Given the description of an element on the screen output the (x, y) to click on. 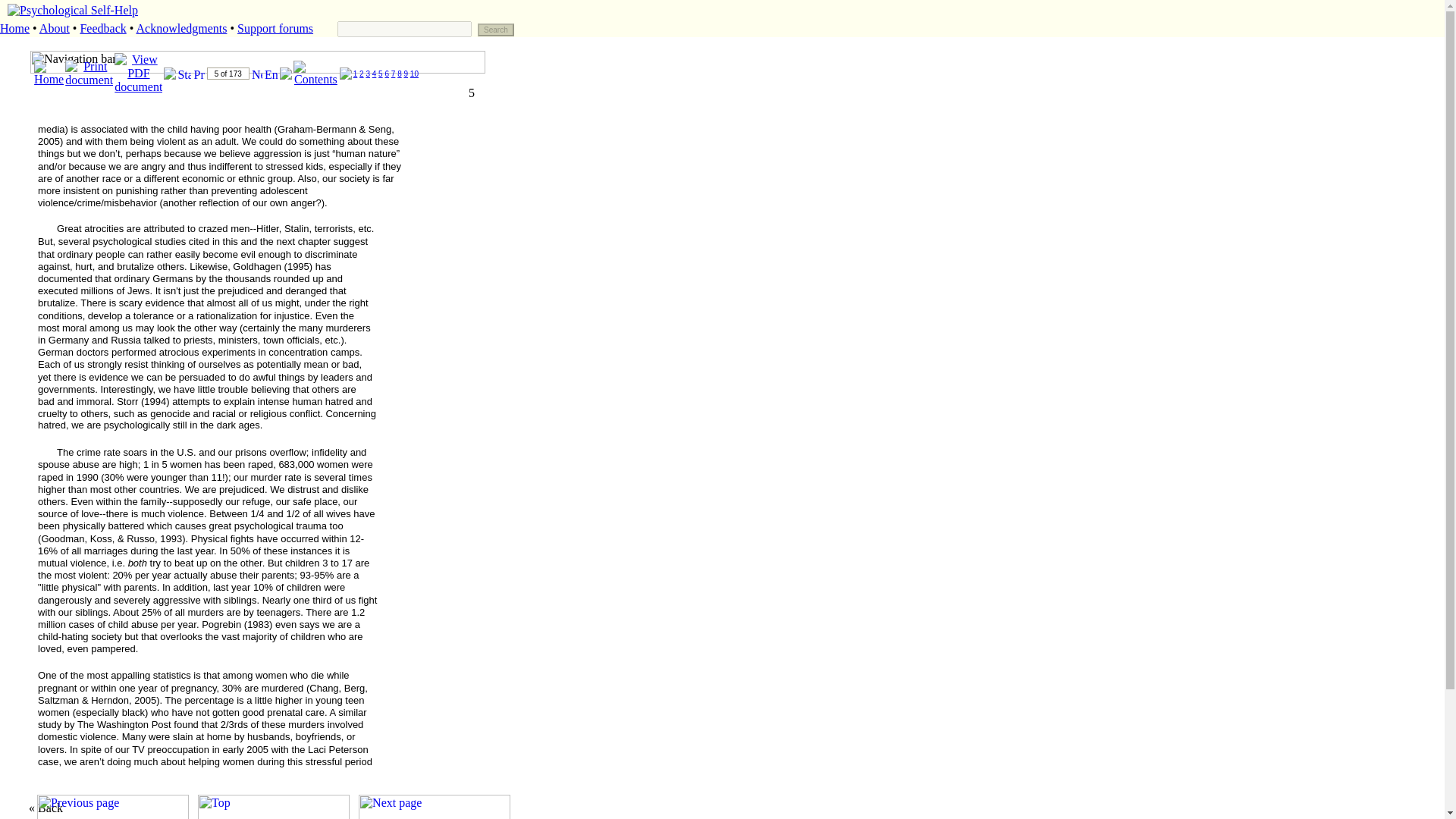
Feedback (102, 28)
Back (49, 807)
Home (14, 28)
10 (414, 73)
Search (495, 29)
About (54, 28)
Search (495, 29)
Acknowledgments (181, 28)
Psychological Self-Help (72, 10)
Support forums (275, 28)
